Given the description of an element on the screen output the (x, y) to click on. 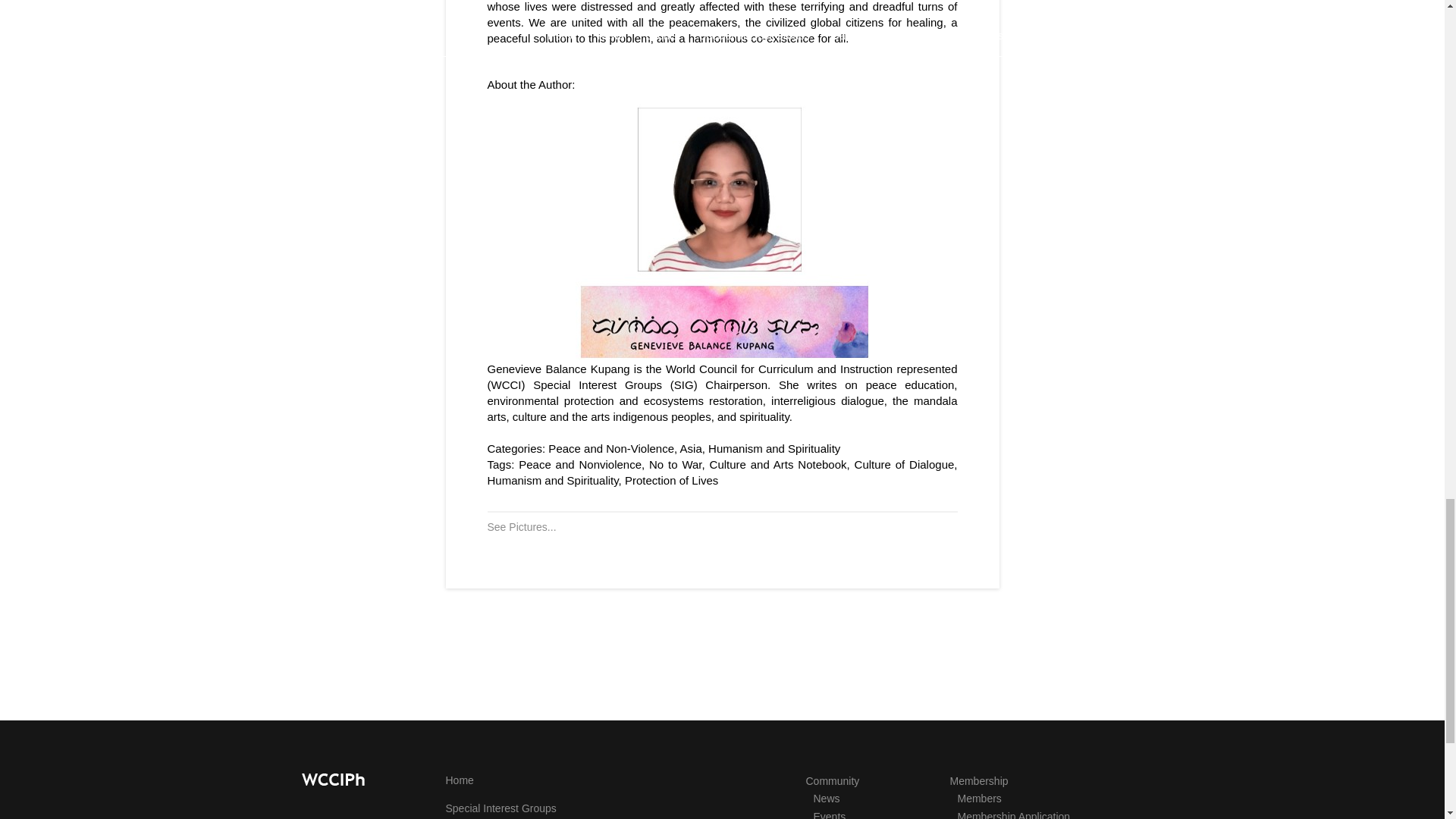
Events (828, 814)
Community (832, 780)
Special Interest Groups (500, 808)
See Pictures... (521, 526)
Home (459, 779)
News (826, 798)
